Given the description of an element on the screen output the (x, y) to click on. 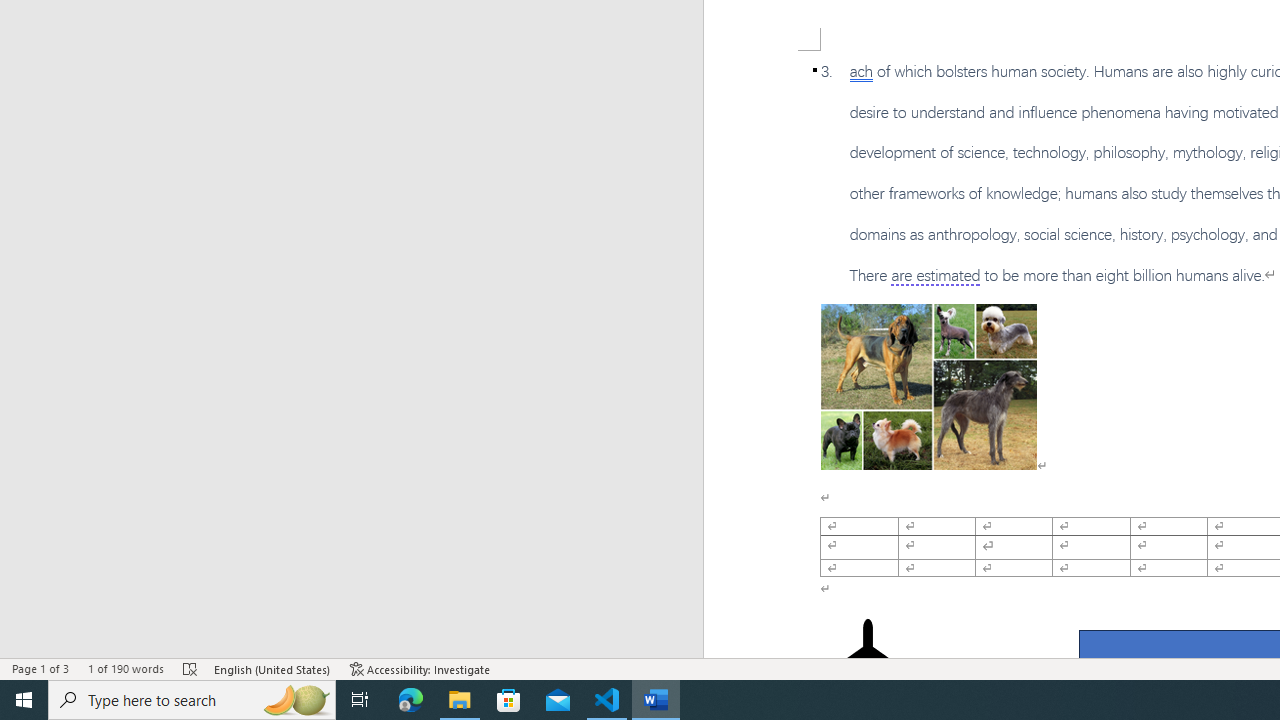
Spelling and Grammar Check Errors (191, 668)
Accessibility Checker Accessibility: Investigate (420, 668)
Language English (United States) (273, 668)
Morphological variation in six dogs (928, 386)
Airplane with solid fill (867, 657)
Page Number Page 1 of 3 (39, 668)
